Given the description of an element on the screen output the (x, y) to click on. 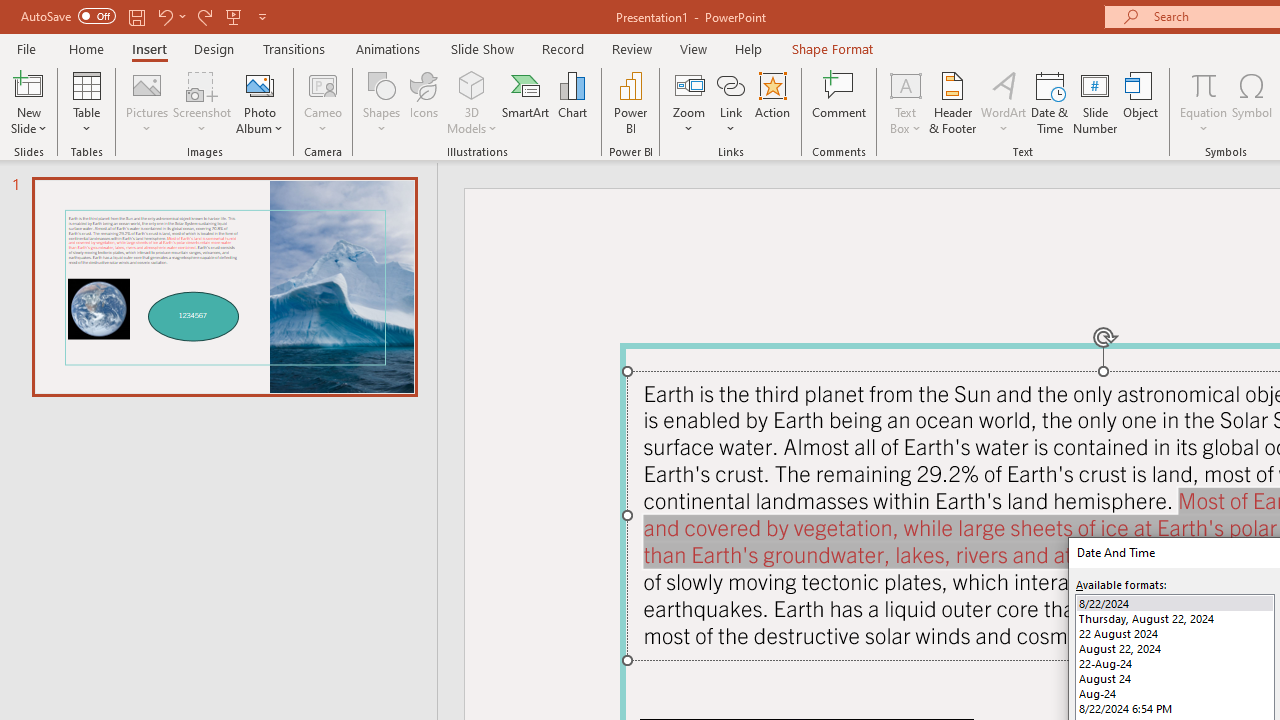
Link (731, 102)
Shape Format (832, 48)
Action (772, 102)
8/22/2024 6:54 PM (1174, 708)
22-Aug-24 (1174, 663)
Equation (1203, 84)
Date & Time... (1050, 102)
22 August 2024 (1174, 632)
